Given the description of an element on the screen output the (x, y) to click on. 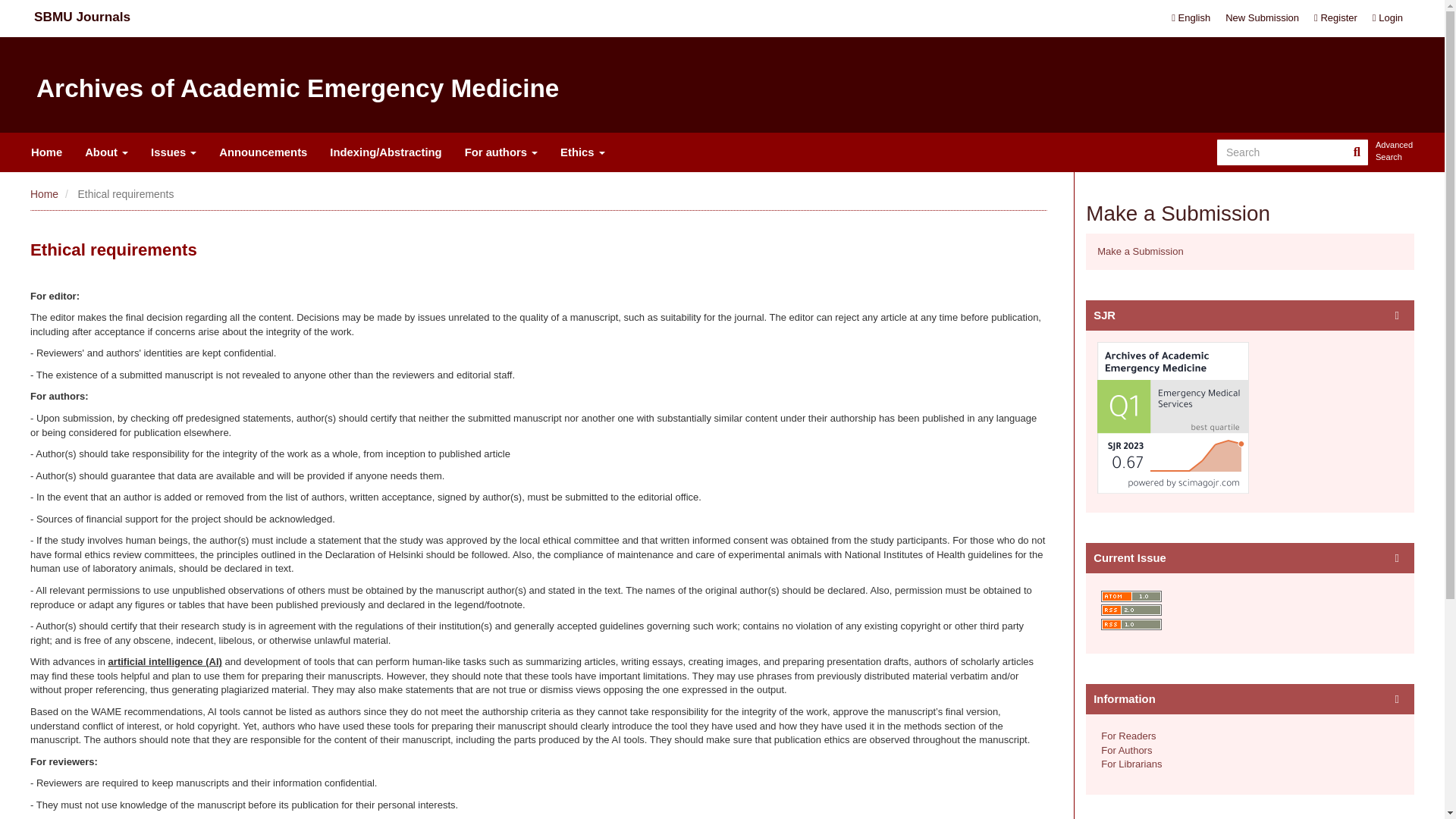
English (1190, 17)
Advanced Search (1394, 151)
Login (1388, 17)
Ethics (581, 152)
Announcements (263, 152)
About (106, 152)
Register (1335, 17)
Issues (173, 152)
Home (44, 193)
SBMU Journals (82, 16)
